Given the description of an element on the screen output the (x, y) to click on. 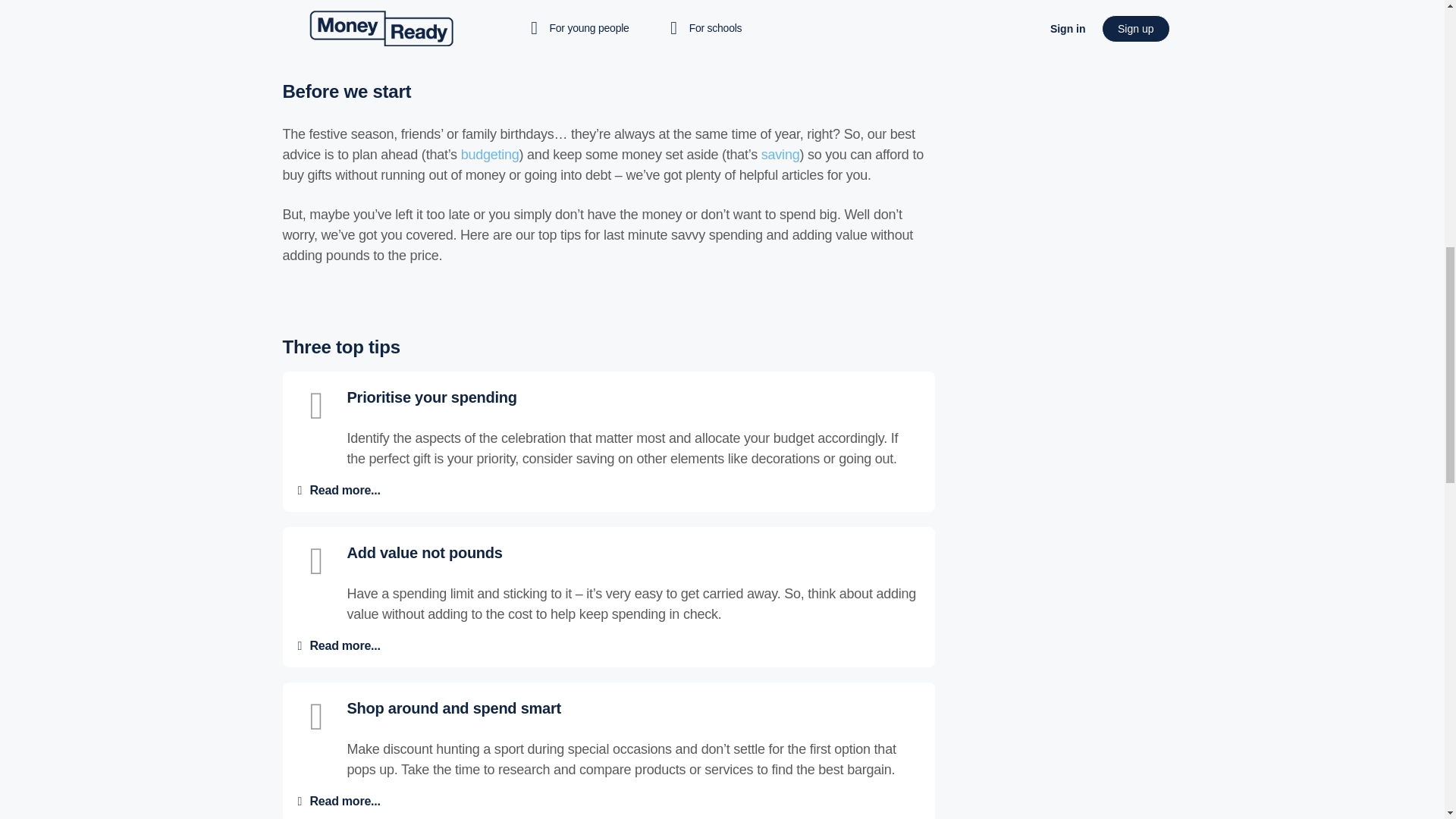
budgeting (490, 154)
Read more... (344, 800)
Read more... (344, 490)
saving (780, 154)
Read more... (344, 645)
